Given the description of an element on the screen output the (x, y) to click on. 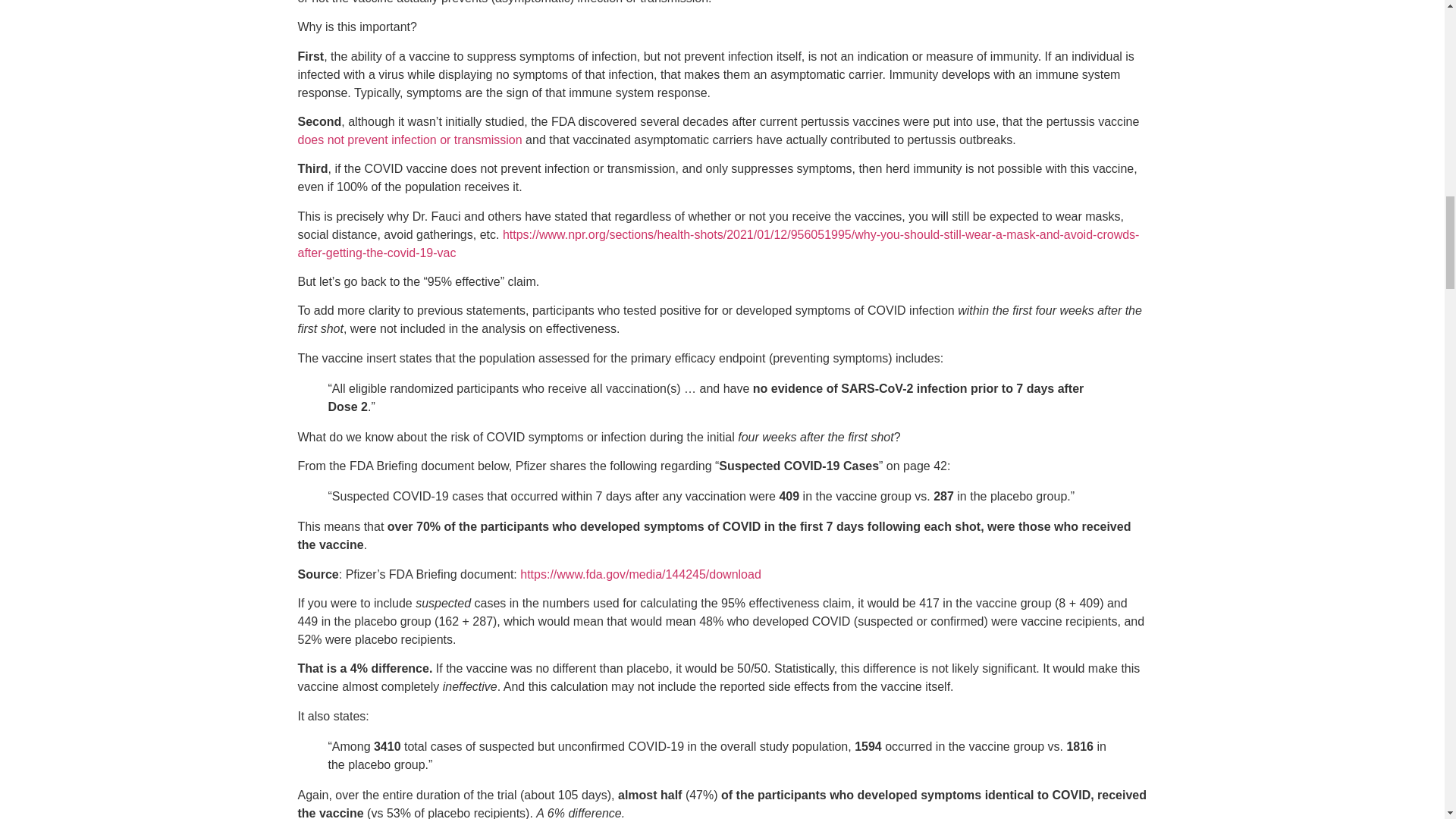
does not prevent infection or transmission (409, 139)
